Given the description of an element on the screen output the (x, y) to click on. 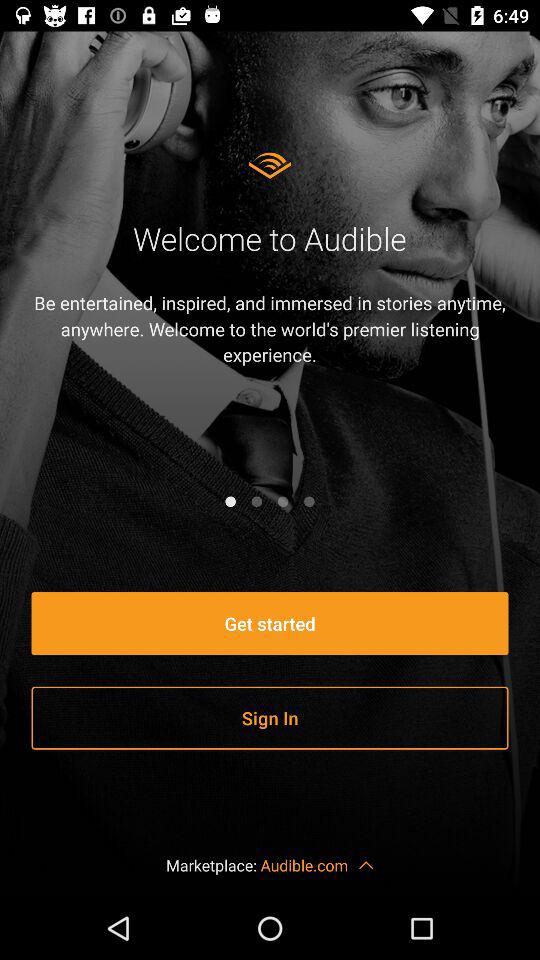
next page (256, 501)
